Given the description of an element on the screen output the (x, y) to click on. 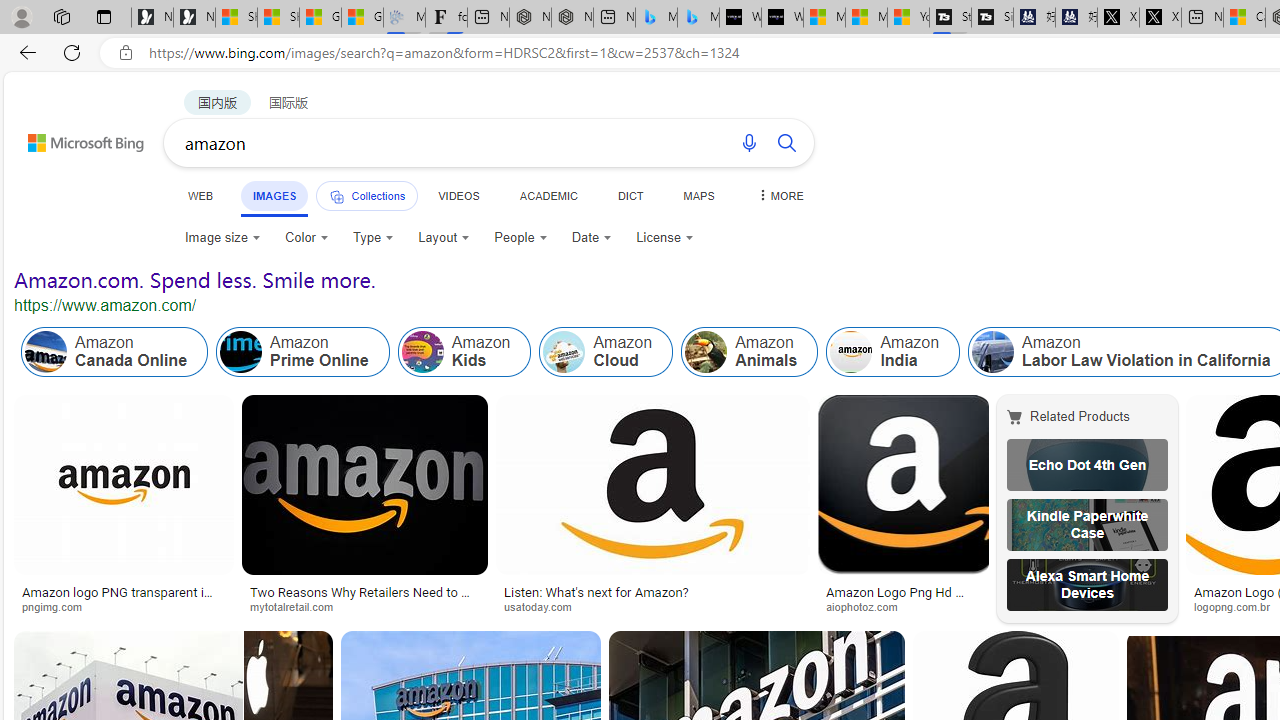
WEB (201, 195)
Amazon India (850, 351)
aiophotoz.com (868, 605)
